Given the description of an element on the screen output the (x, y) to click on. 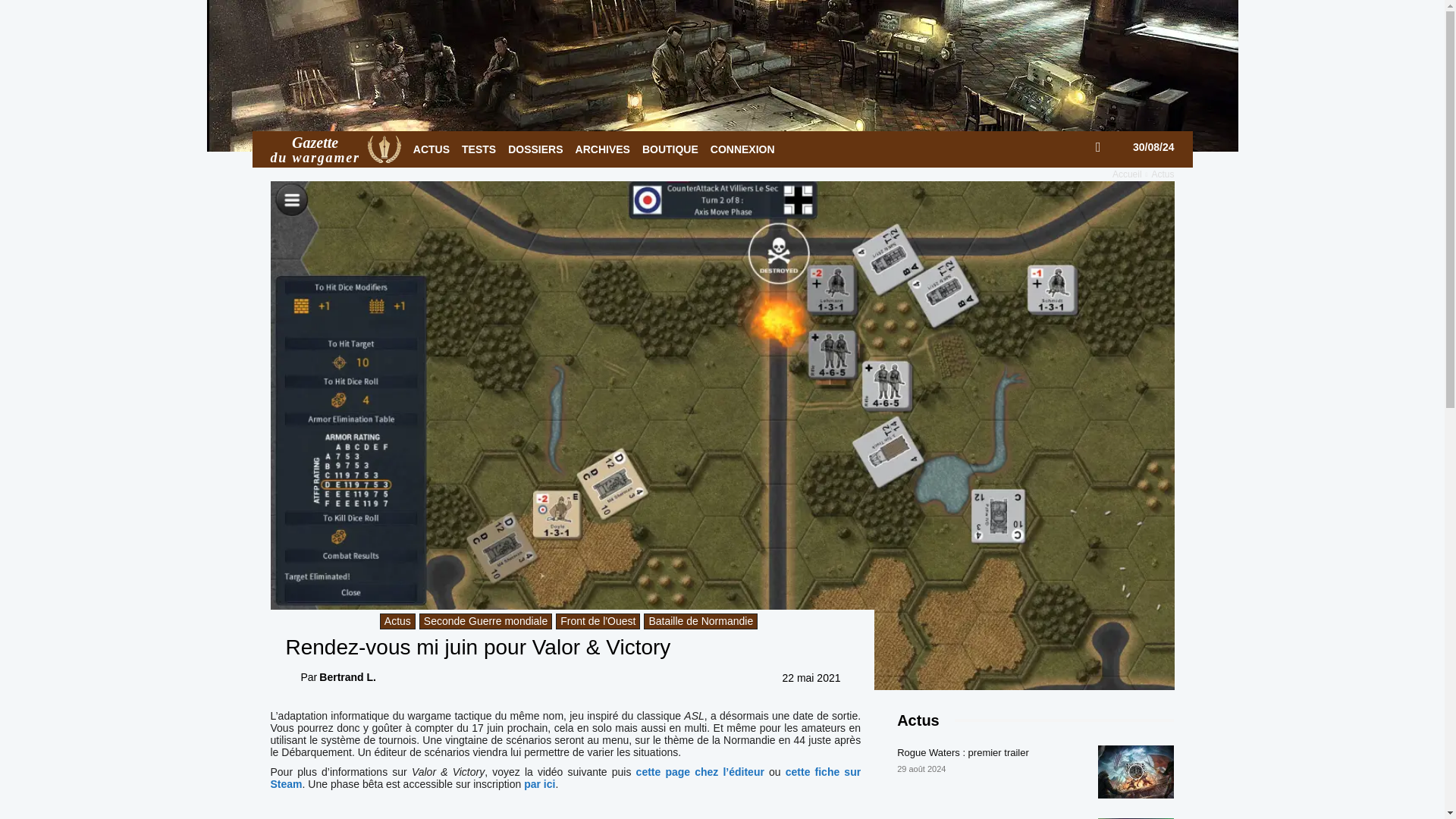
BOUTIQUE (670, 149)
Gazette du wargamer (334, 149)
Gazette du wargamer (384, 148)
Actus (1162, 173)
Front de l'Ouest (598, 621)
Bataille de Normandie (700, 621)
Accueil (1126, 173)
CONNEXION (742, 149)
Voir tous les articles dans Actus (1162, 173)
Actus (397, 621)
